Given the description of an element on the screen output the (x, y) to click on. 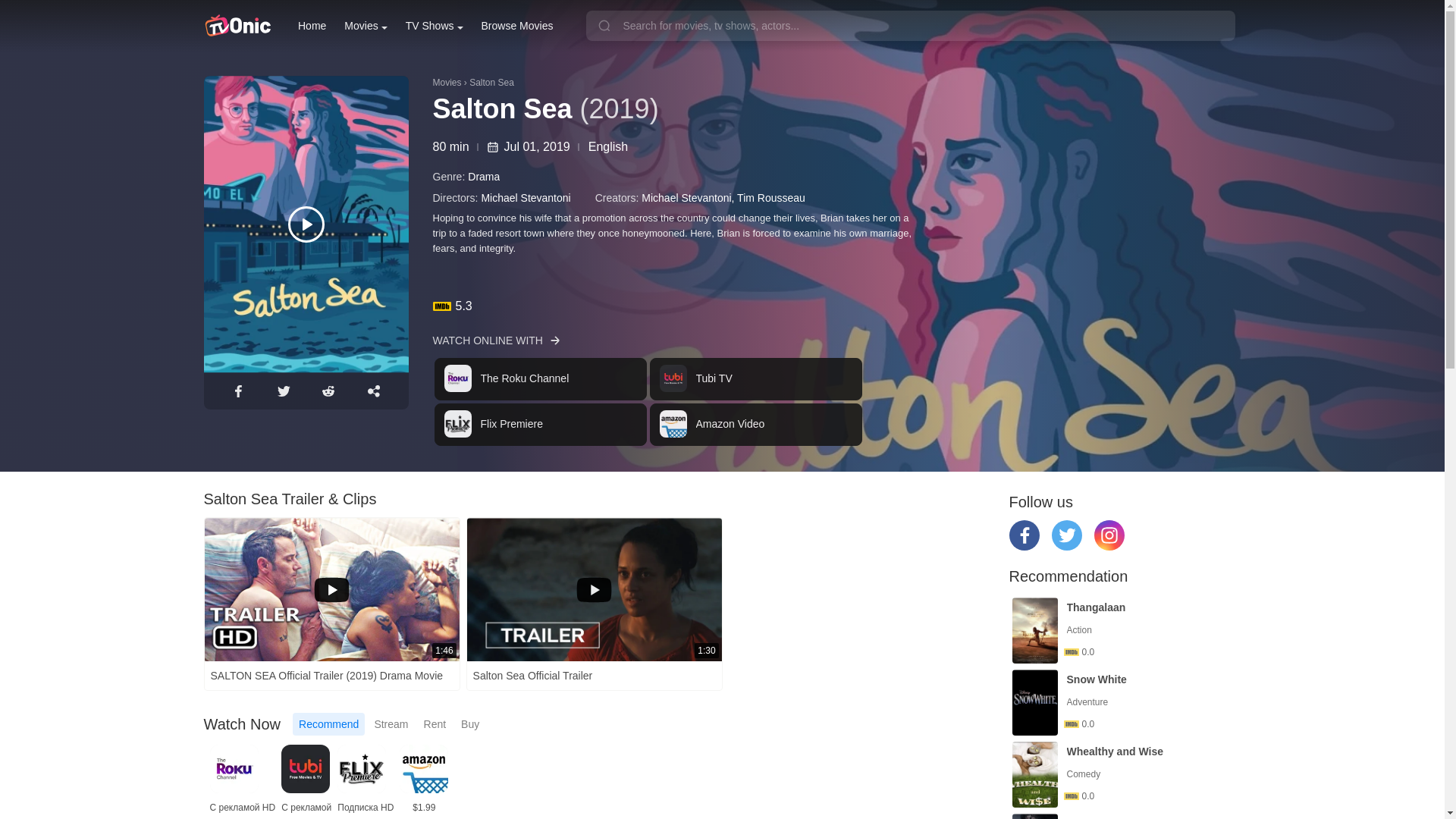
Home (312, 25)
5.3 (836, 306)
Movies (365, 25)
TVOnic (236, 25)
Movies (365, 25)
TV Shows (434, 25)
